Given the description of an element on the screen output the (x, y) to click on. 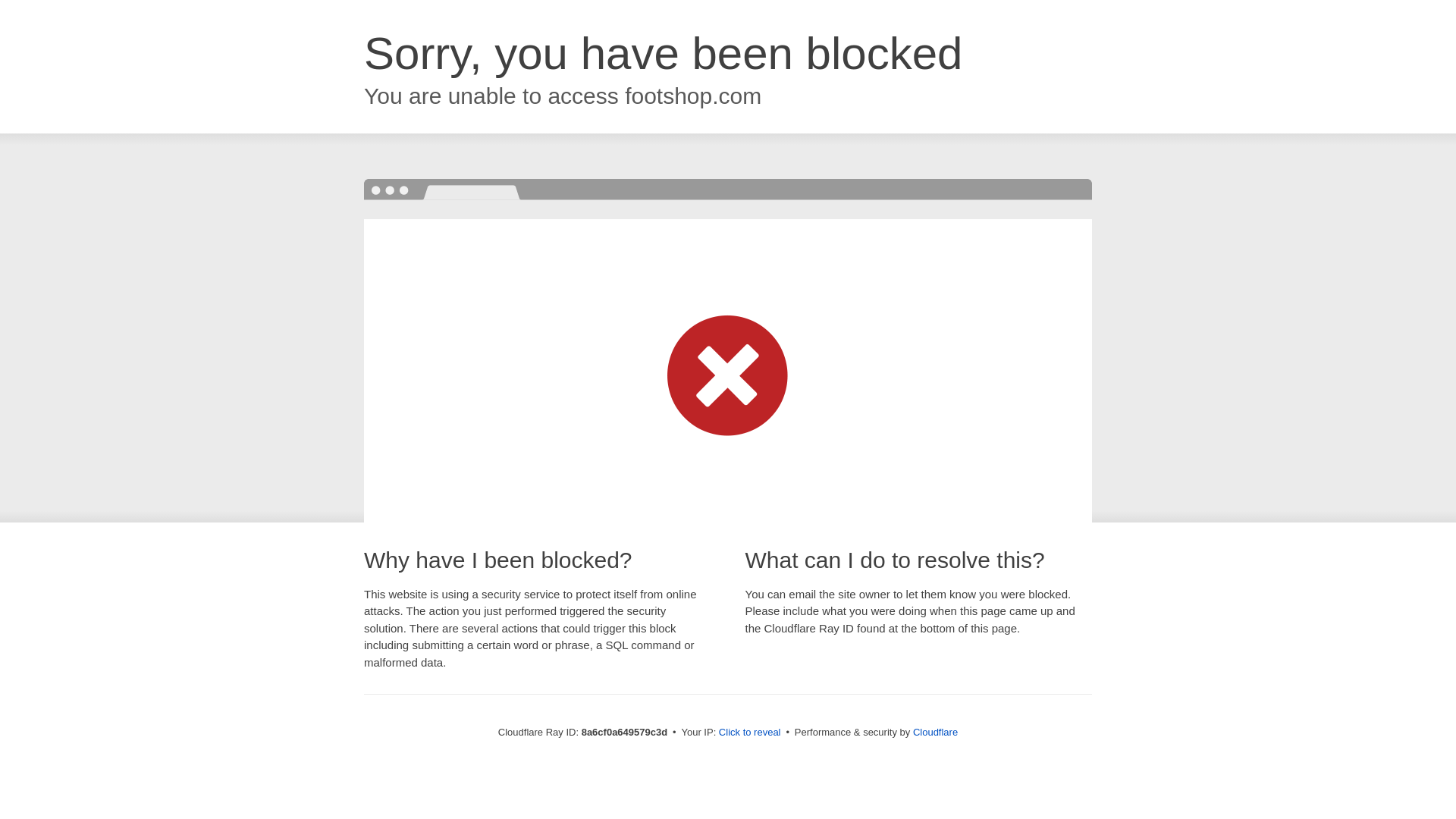
Cloudflare (935, 731)
Click to reveal (749, 732)
